Given the description of an element on the screen output the (x, y) to click on. 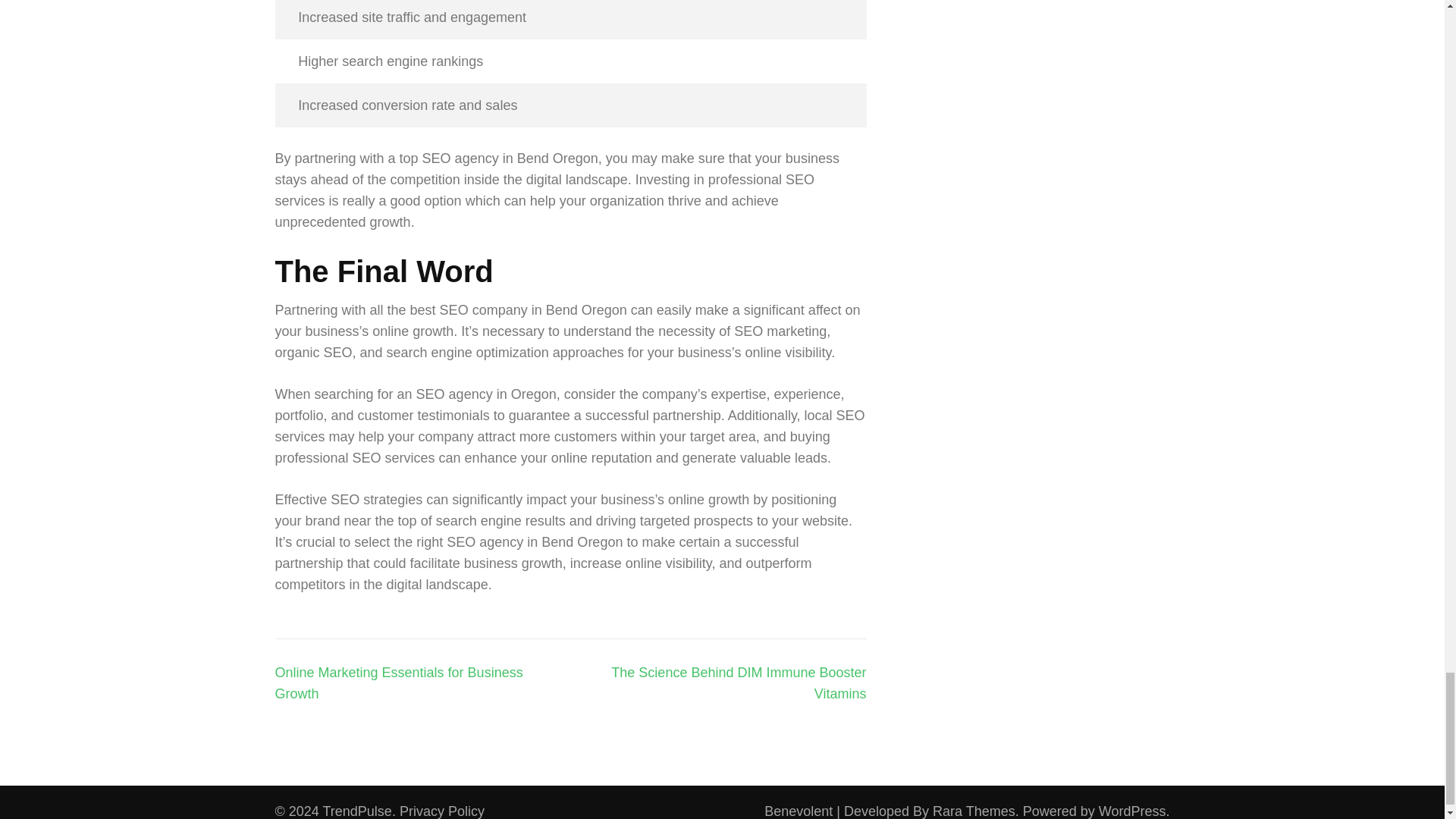
Online Marketing Essentials for Business Growth (398, 683)
The Science Behind DIM Immune Booster Vitamins (738, 683)
